Given the description of an element on the screen output the (x, y) to click on. 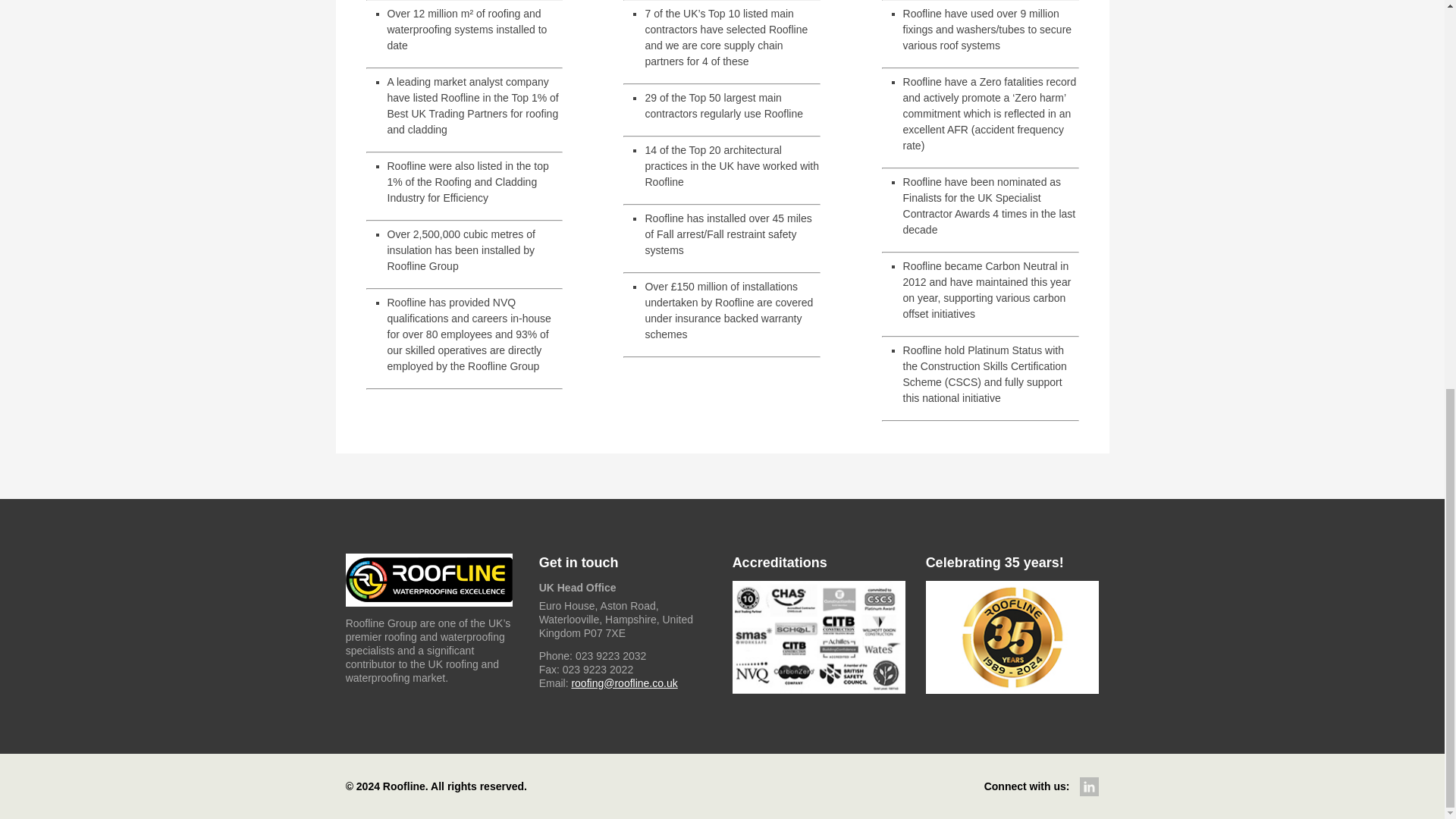
LinkedIn (1089, 786)
Celebrating 35 years! (1012, 636)
